Given the description of an element on the screen output the (x, y) to click on. 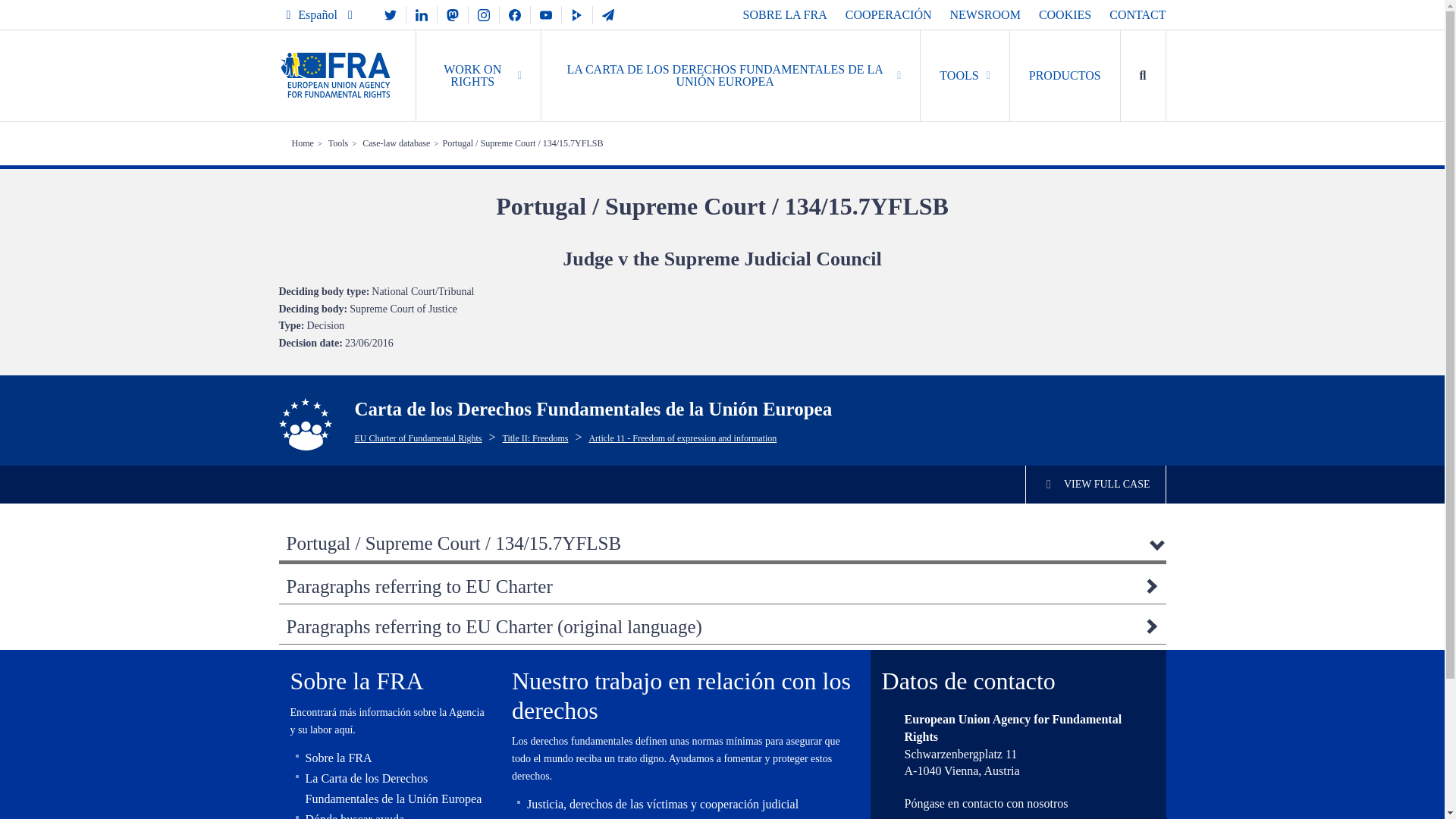
Instagram (483, 13)
NEWSROOM (985, 14)
CONTACT (1137, 14)
Newsletter (607, 13)
FRA's Facebook channel (514, 13)
LinkedIn (421, 13)
COOKIES (1064, 14)
FRA's Mastodon channel (452, 13)
Facebook (514, 13)
